Given the description of an element on the screen output the (x, y) to click on. 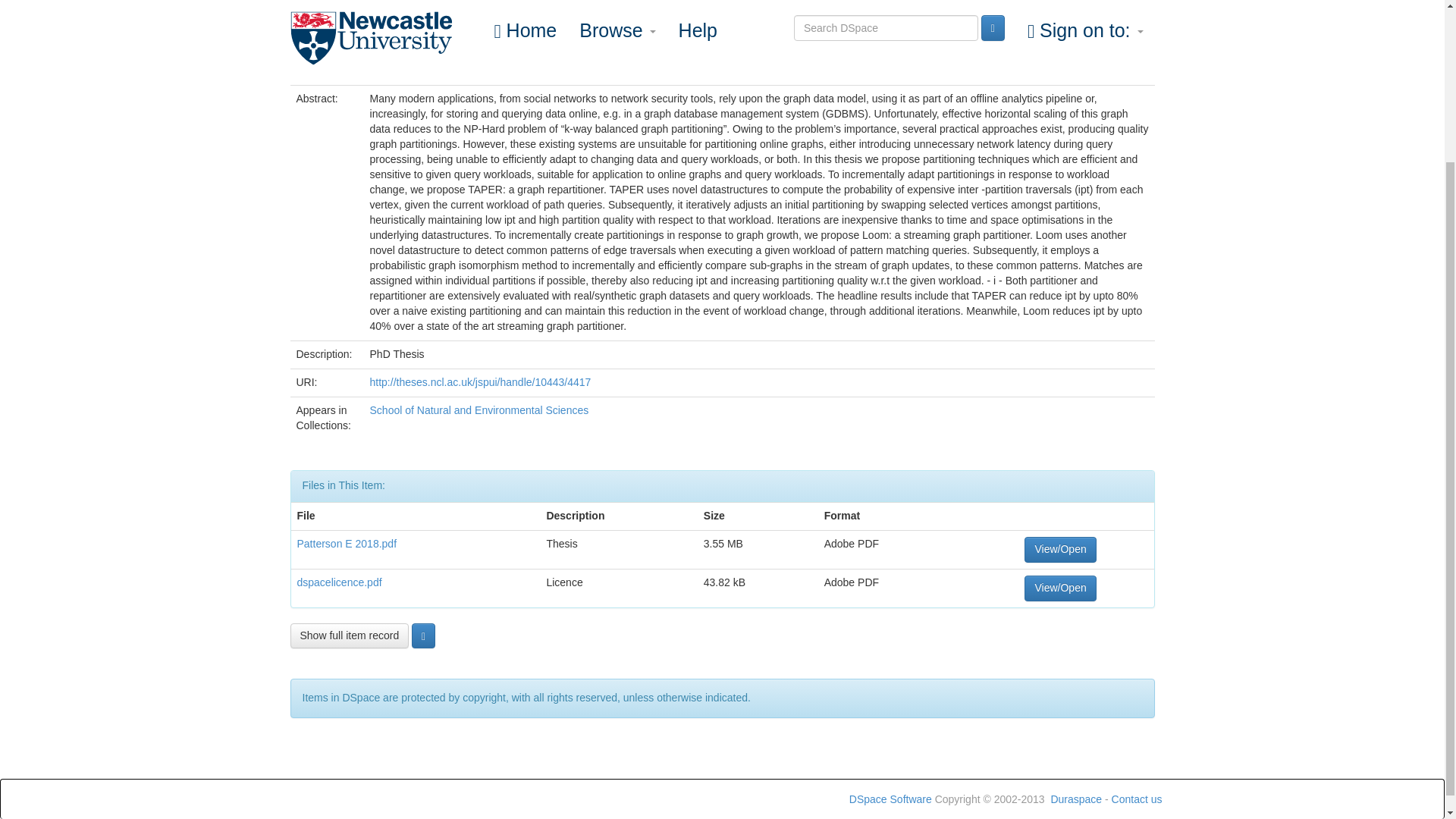
Duraspace (1075, 799)
dspacelicence.pdf (339, 582)
Patterson, Eli St Patrick (425, 14)
DSpace Software (889, 799)
Patterson E 2018.pdf (347, 543)
School of Natural and Environmental Sciences (479, 410)
Show full item record (349, 636)
Contact us (1136, 799)
